Given the description of an element on the screen output the (x, y) to click on. 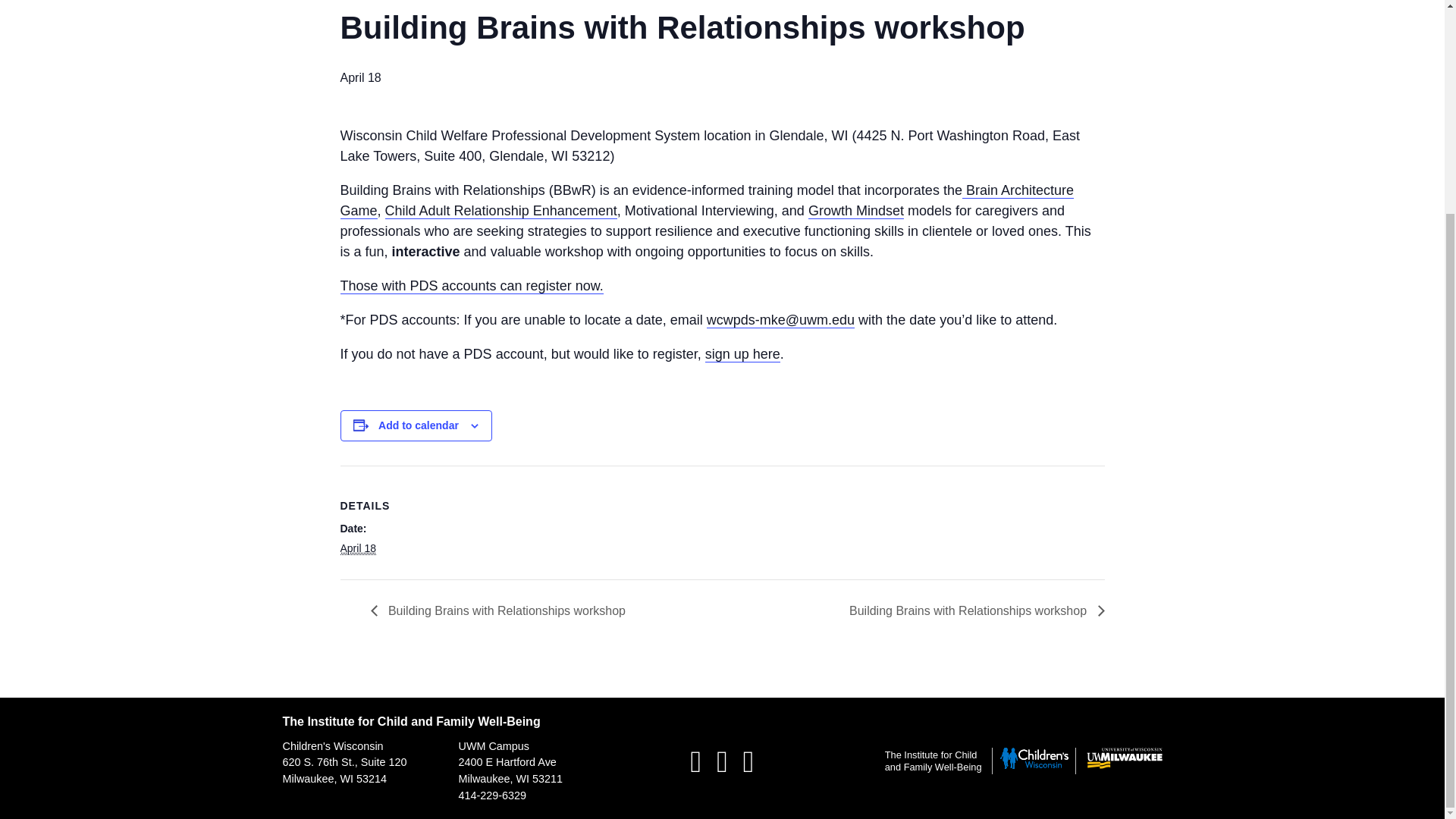
University of Wisconsin-Milwaukee (1123, 765)
Institute for Child and Family Well-Being (933, 761)
2024-04-18 (357, 548)
Children's Hospital of Wisconsin (1034, 765)
